Given the description of an element on the screen output the (x, y) to click on. 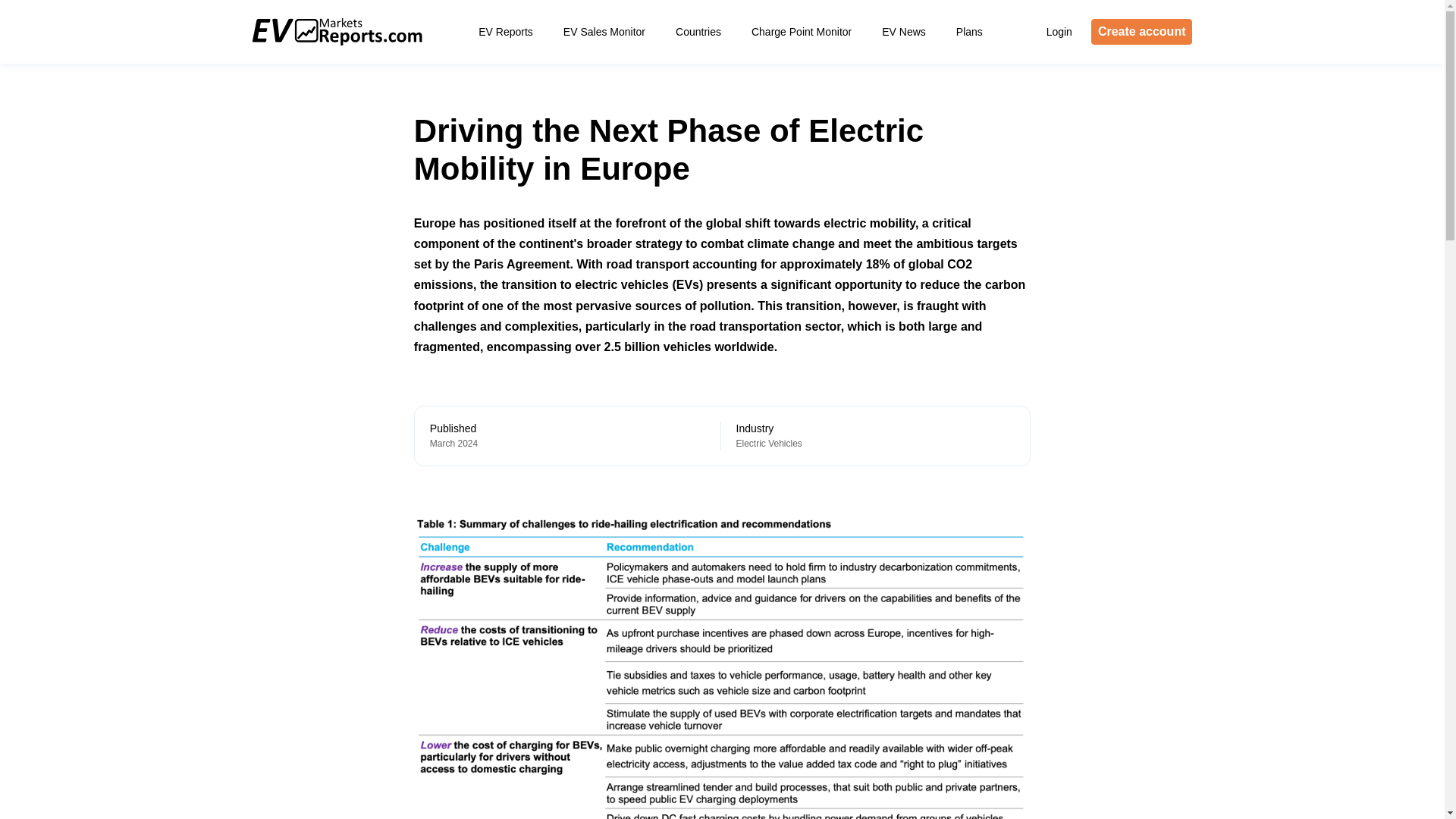
Charge Point Monitor (801, 31)
Create account (1141, 31)
EV Sales Monitor (603, 31)
Plans (969, 31)
Login (1058, 32)
Login (1058, 32)
Create account (1141, 31)
EV News (903, 31)
Countries (698, 31)
EV Reports (504, 31)
